Given the description of an element on the screen output the (x, y) to click on. 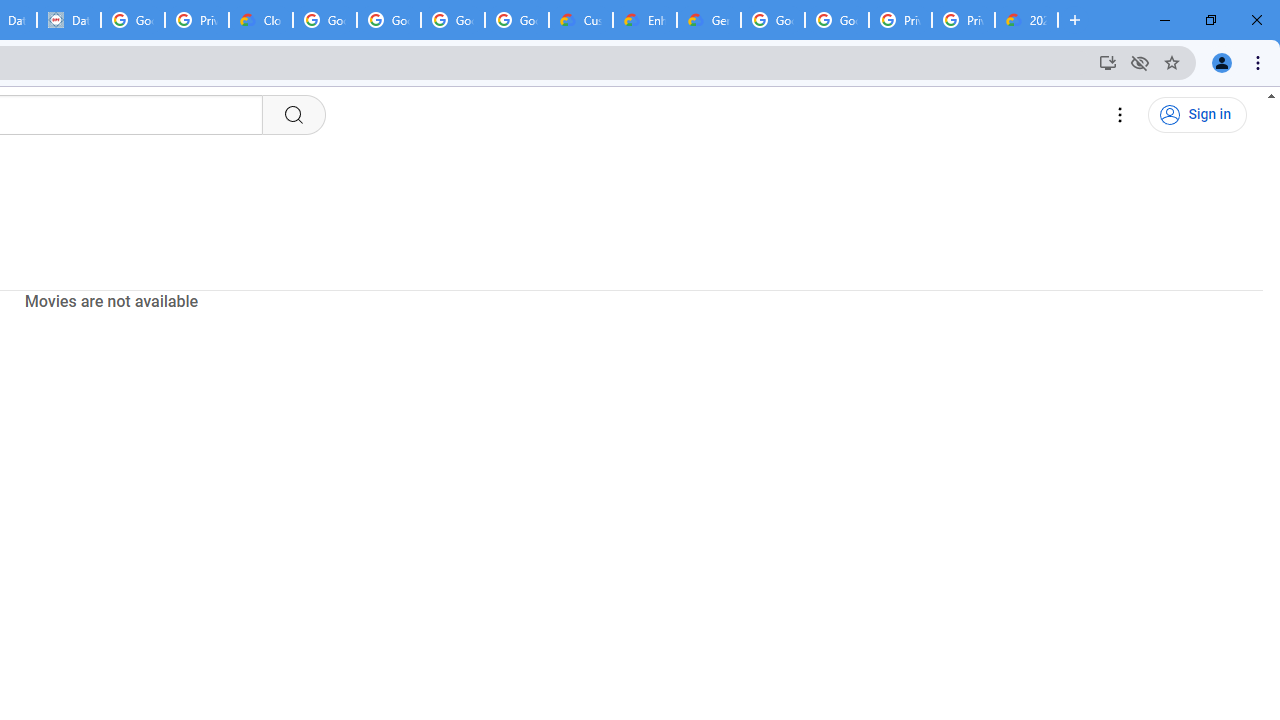
Google Cloud Platform (773, 20)
Customer Care | Google Cloud (581, 20)
Google Workspace - Specific Terms (517, 20)
Data Privacy Framework (69, 20)
Install YouTube (1107, 62)
Google Cloud Platform (837, 20)
